Given the description of an element on the screen output the (x, y) to click on. 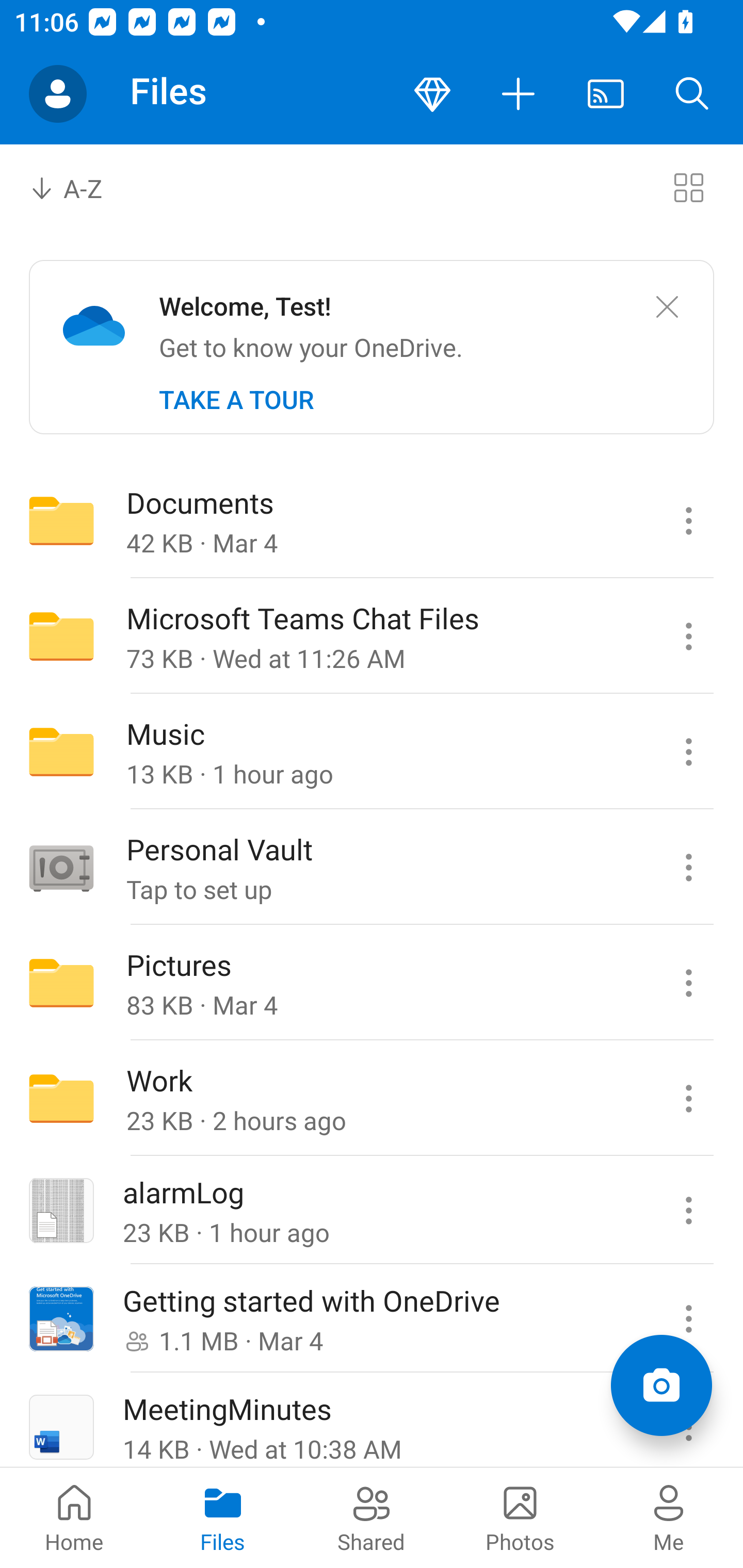
Account switcher (57, 93)
Cast. Disconnected (605, 93)
Premium button (432, 93)
More actions button (518, 93)
Search button (692, 93)
A-Z Sort by combo box, sort by name, A to Z (80, 187)
Switch to tiles view (688, 187)
Close (667, 307)
TAKE A TOUR (236, 399)
Folder Documents 42 KB · Mar 4 Documents commands (371, 520)
Documents commands (688, 520)
Microsoft Teams Chat Files commands (688, 636)
Folder Music 13 KB · 1 hour ago Music commands (371, 751)
Music commands (688, 751)
Personal Vault commands (688, 867)
Folder Pictures 83 KB · Mar 4 Pictures commands (371, 983)
Pictures commands (688, 983)
Folder Work 23 KB · 2 hours ago Work commands (371, 1099)
Work commands (688, 1099)
alarmLog commands (688, 1211)
Getting started with OneDrive commands (688, 1319)
Add items Scan (660, 1385)
Home pivot Home (74, 1517)
Shared pivot Shared (371, 1517)
Photos pivot Photos (519, 1517)
Me pivot Me (668, 1517)
